Given the description of an element on the screen output the (x, y) to click on. 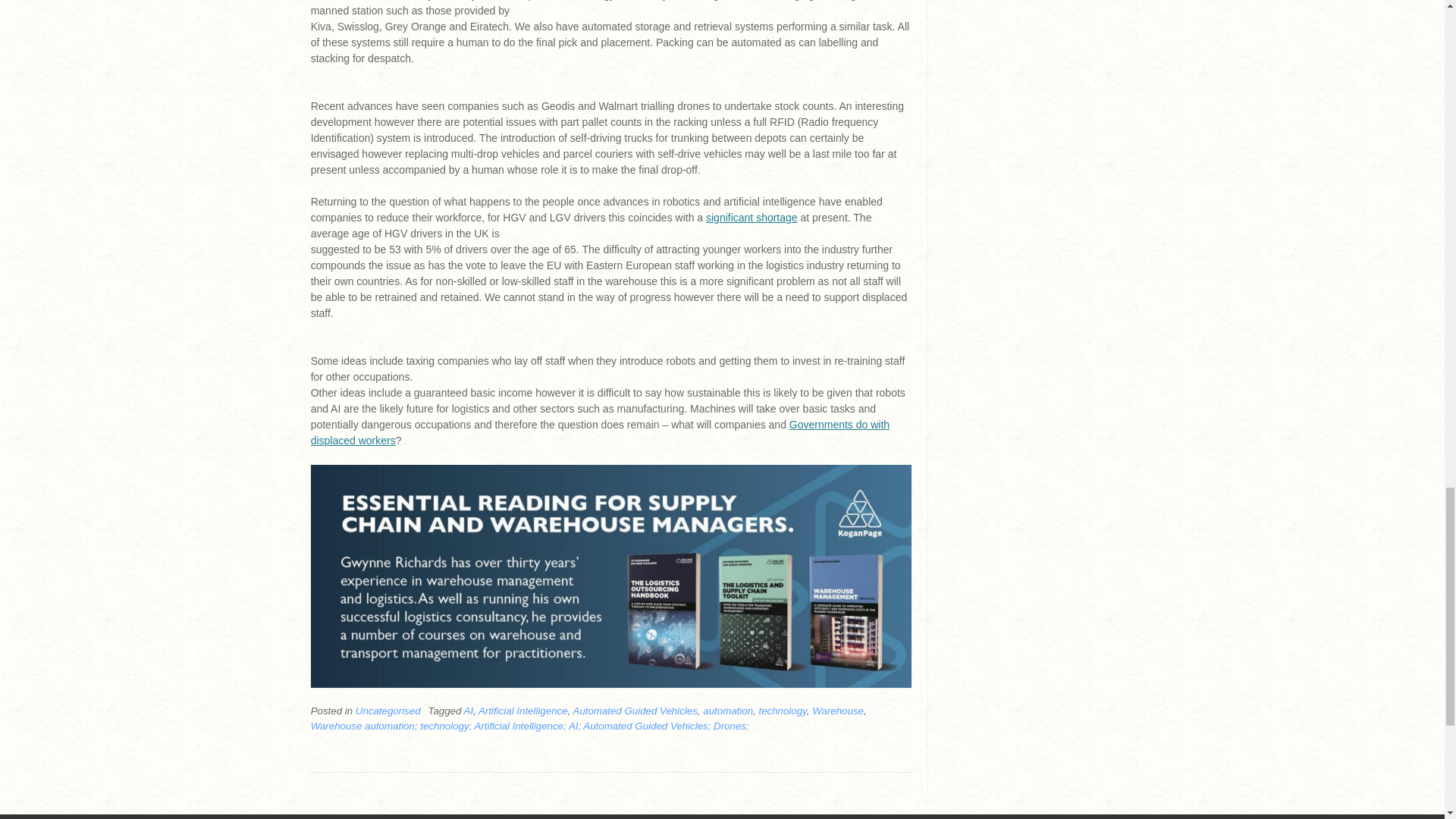
automation (727, 710)
Governments do with displaced workers (600, 432)
Automated Guided Vehicles (635, 710)
Uncategorised (387, 710)
AI (469, 710)
Warehouse (837, 710)
significant shortage (751, 217)
technology (782, 710)
Artificial Intelligence (523, 710)
